Given the description of an element on the screen output the (x, y) to click on. 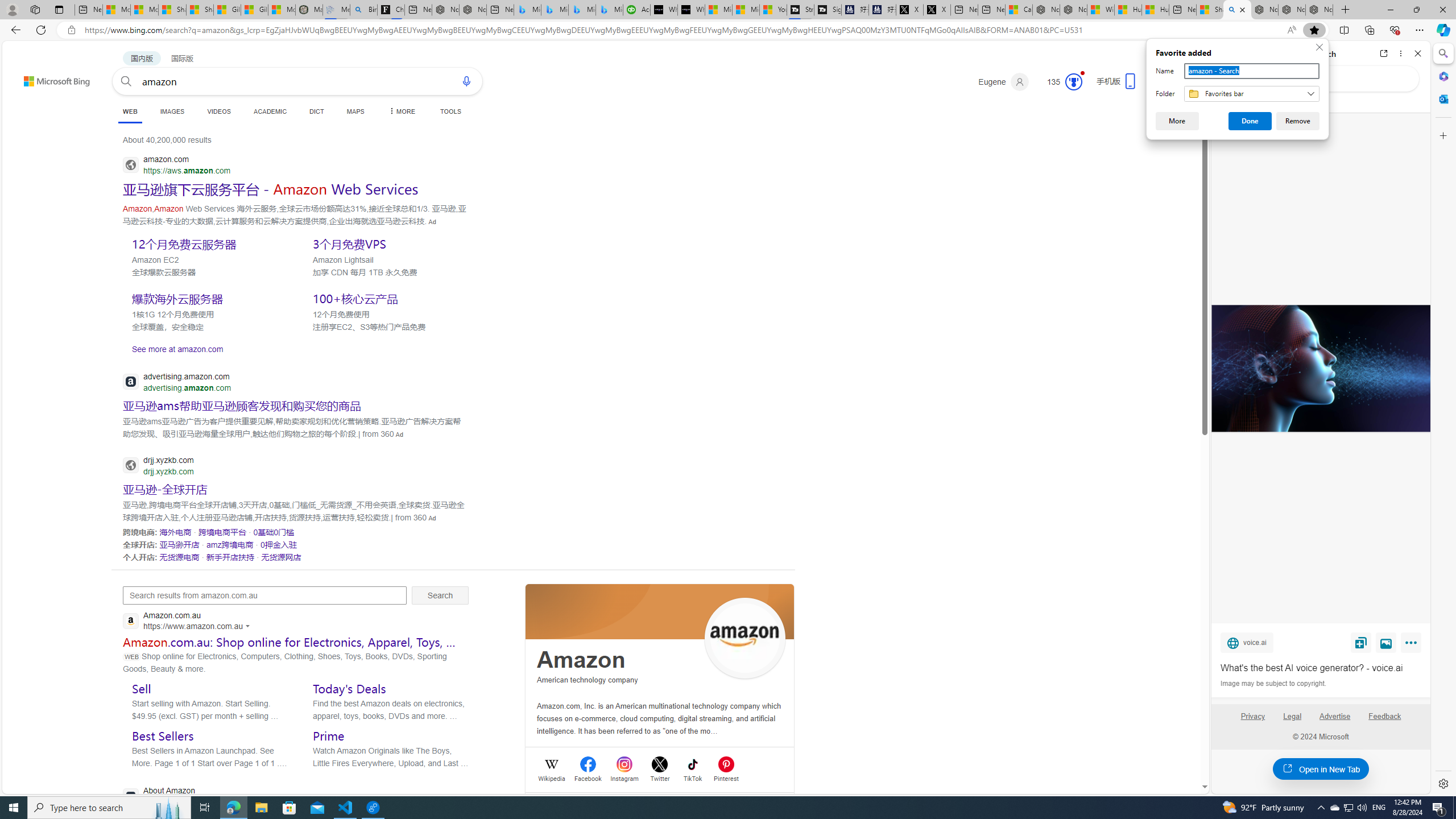
SERP,5547 (270, 189)
Running applications (706, 807)
Amazon (581, 659)
Legal (1291, 715)
